Given the description of an element on the screen output the (x, y) to click on. 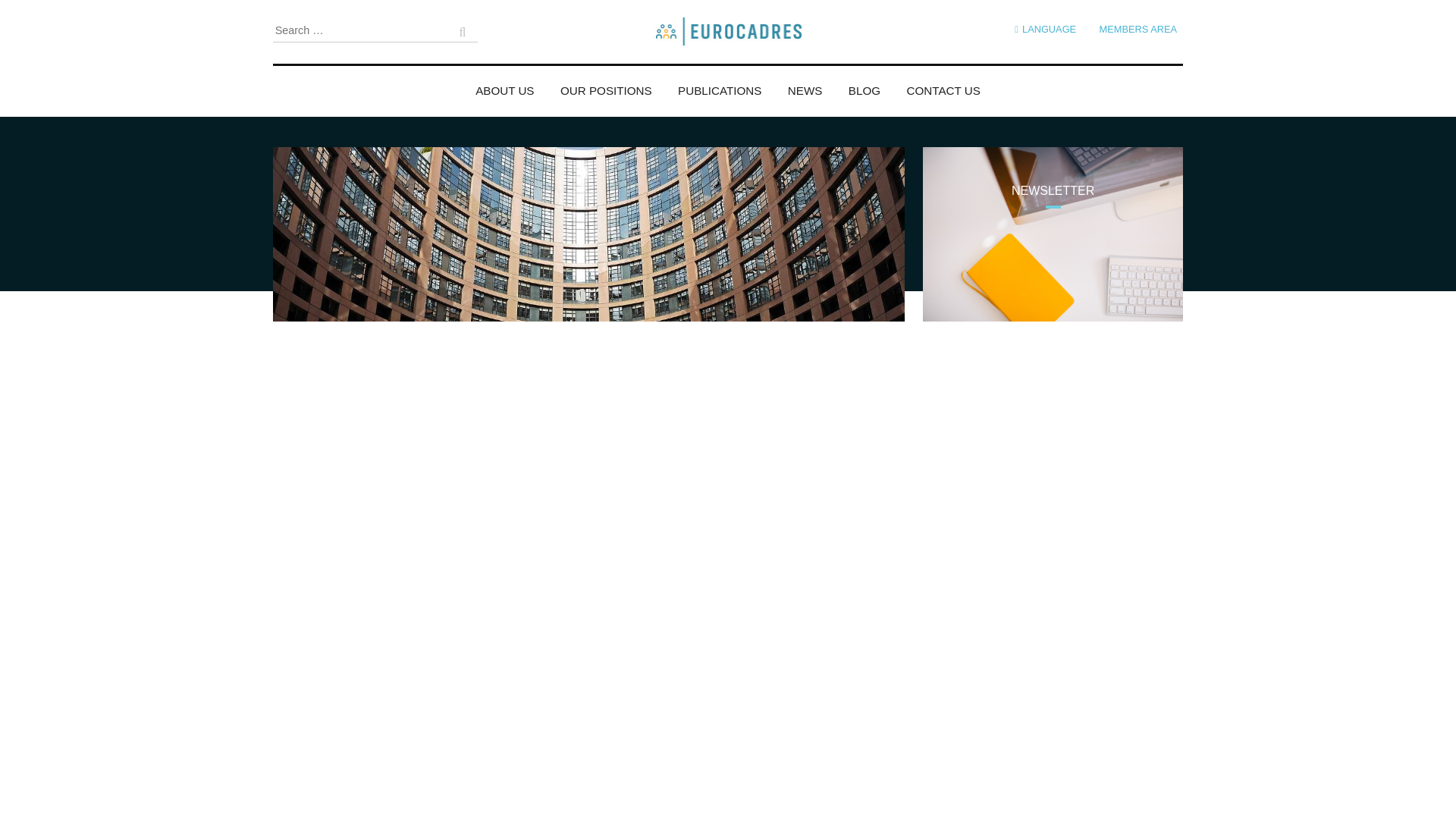
NEWS (804, 84)
ABOUT US (505, 84)
Search for: (375, 29)
LANGUAGE (1044, 29)
MEMBERS AREA (1137, 29)
CONTACT US (943, 84)
OUR POSITIONS (606, 84)
PUBLICATIONS (719, 84)
